Given the description of an element on the screen output the (x, y) to click on. 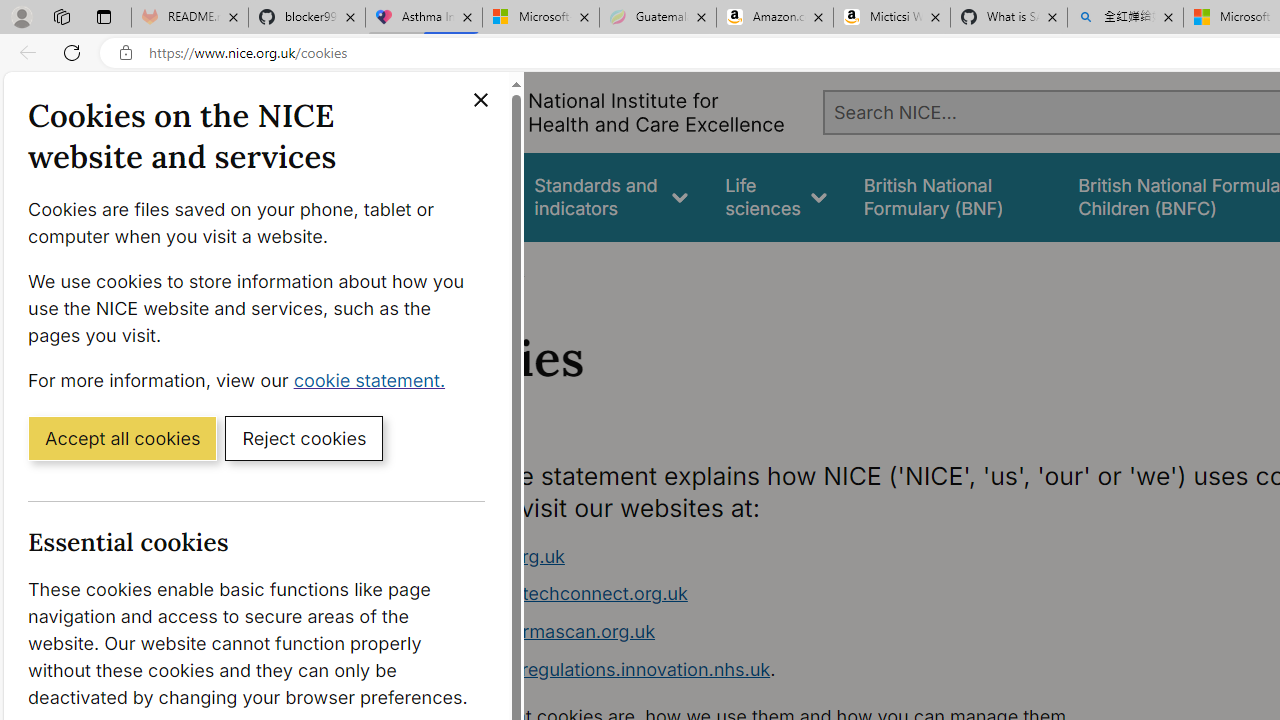
Accept all cookies (122, 437)
www.digitalregulations.innovation.nhs.uk. (796, 669)
www.healthtechconnect.org.uk (554, 593)
cookie statement. (Opens in a new window) (373, 379)
www.healthtechconnect.org.uk (796, 594)
www.nice.org.uk (492, 556)
Home> (433, 268)
About (498, 268)
